Given the description of an element on the screen output the (x, y) to click on. 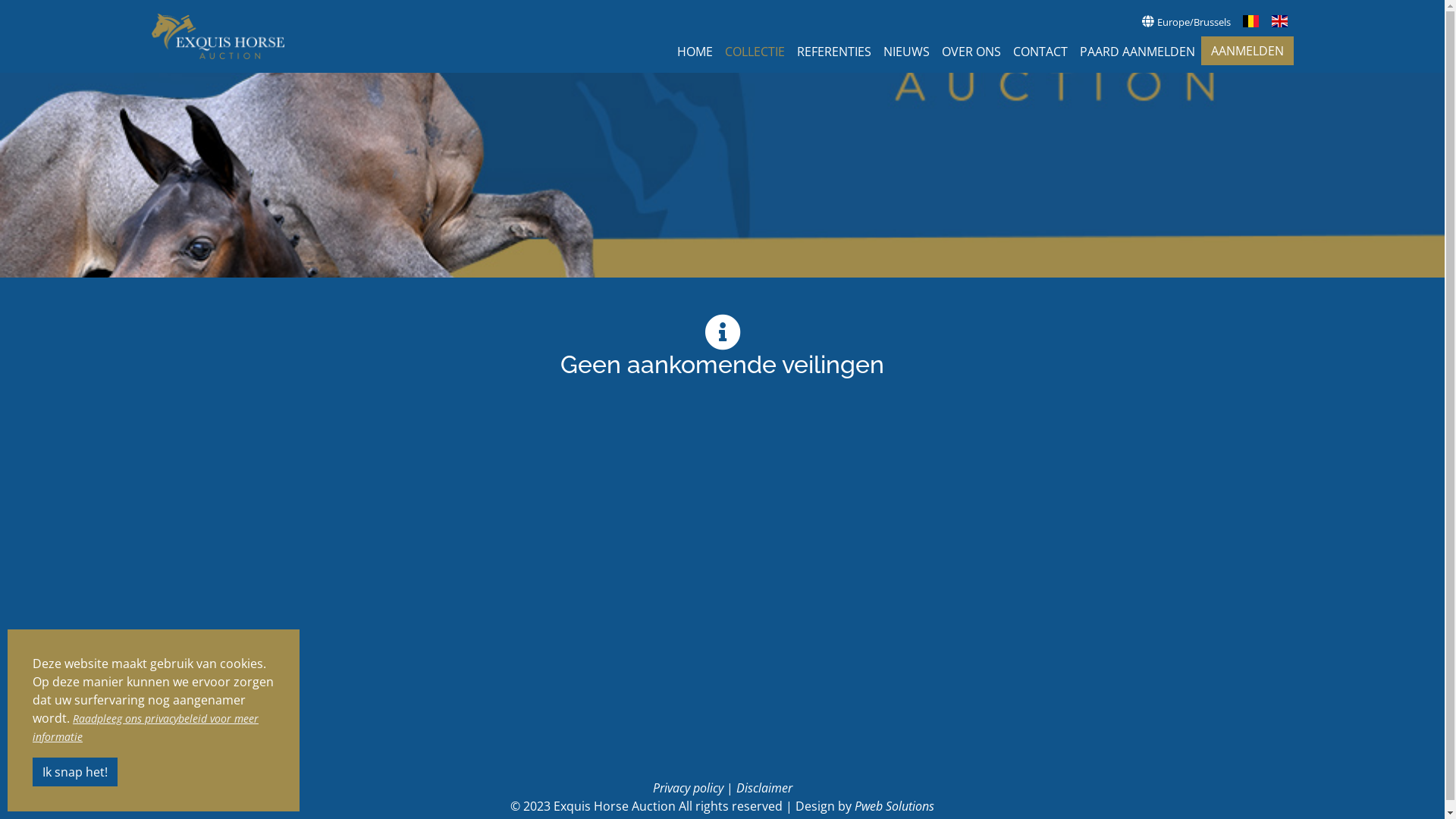
CONTACT Element type: text (1040, 51)
REFERENTIES Element type: text (833, 51)
Ik snap het! Element type: text (74, 771)
OVER ONS Element type: text (971, 51)
PAARD AANMELDEN Element type: text (1137, 51)
HOME Element type: text (694, 51)
COLLECTIE Element type: text (754, 51)
Privacy policy Element type: text (687, 787)
AANMELDEN Element type: text (1247, 50)
Raadpleeg ons privacybeleid voor meer informatie Element type: text (145, 727)
Disclaimer Element type: text (763, 787)
Europe/Brussels Element type: text (1185, 21)
NIEUWS Element type: text (905, 51)
Pweb Solutions Element type: text (894, 805)
